Given the description of an element on the screen output the (x, y) to click on. 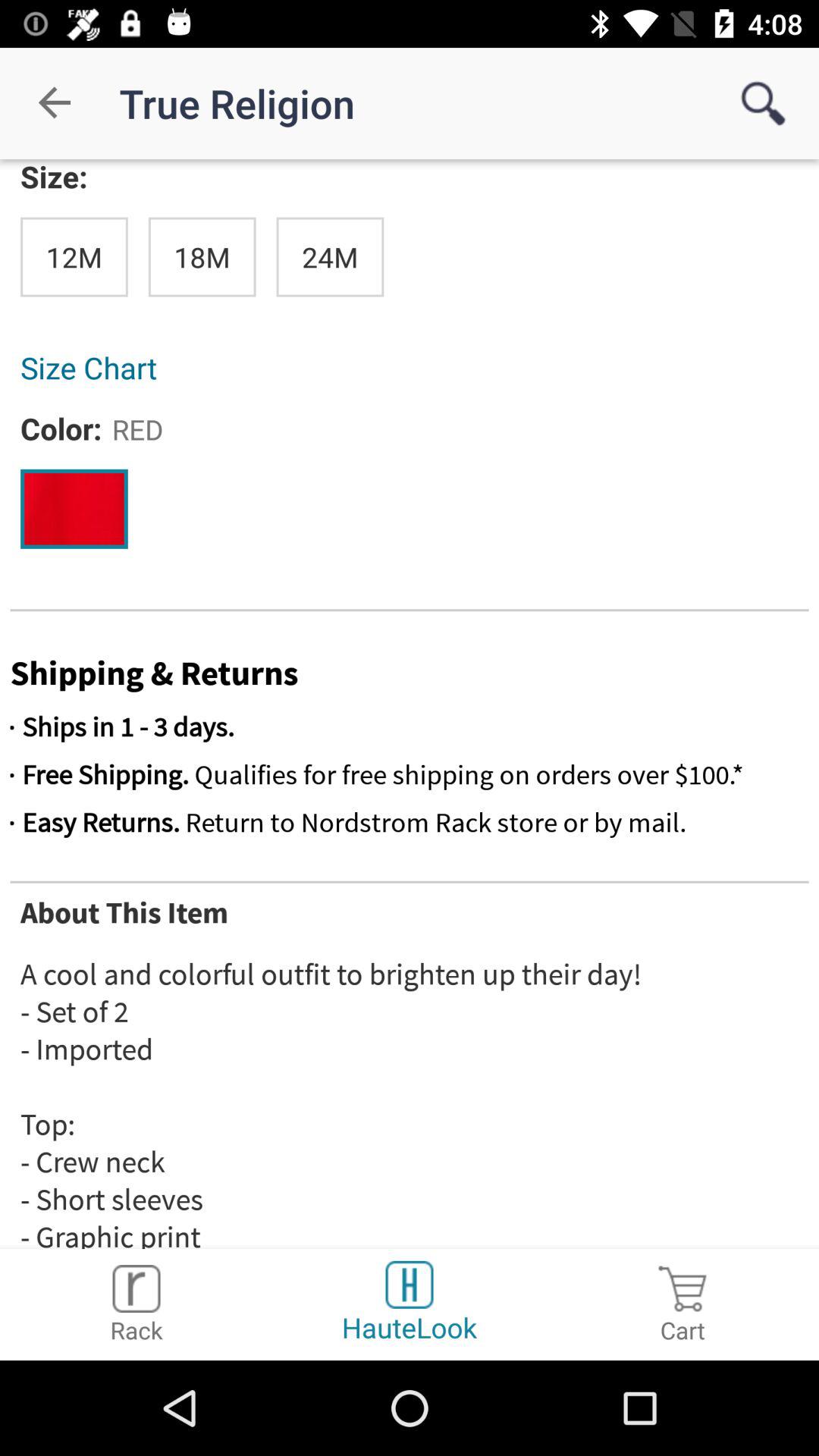
jump to size chart item (409, 367)
